Given the description of an element on the screen output the (x, y) to click on. 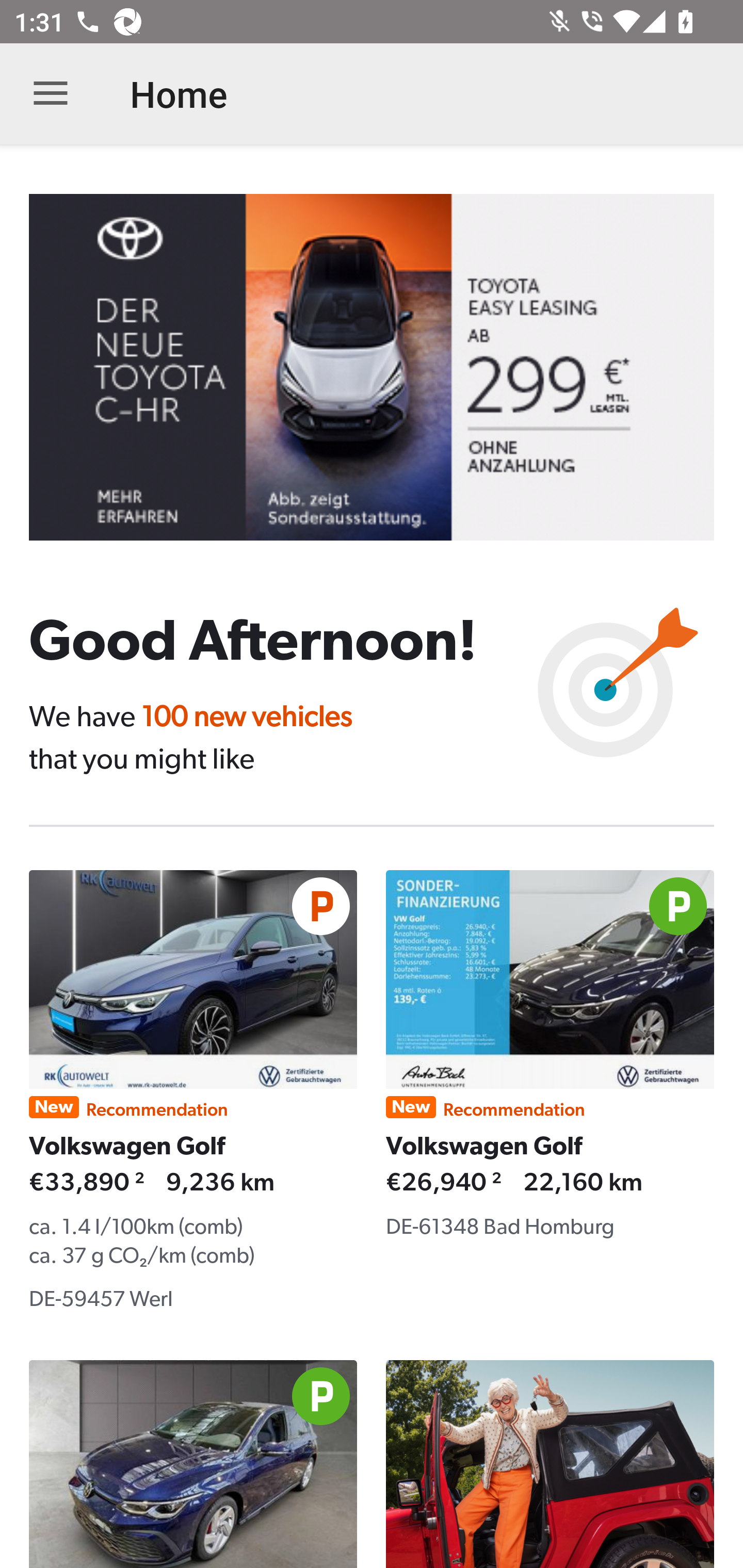
Open navigation bar (50, 93)
B31340770 (385, 367)
